Given the description of an element on the screen output the (x, y) to click on. 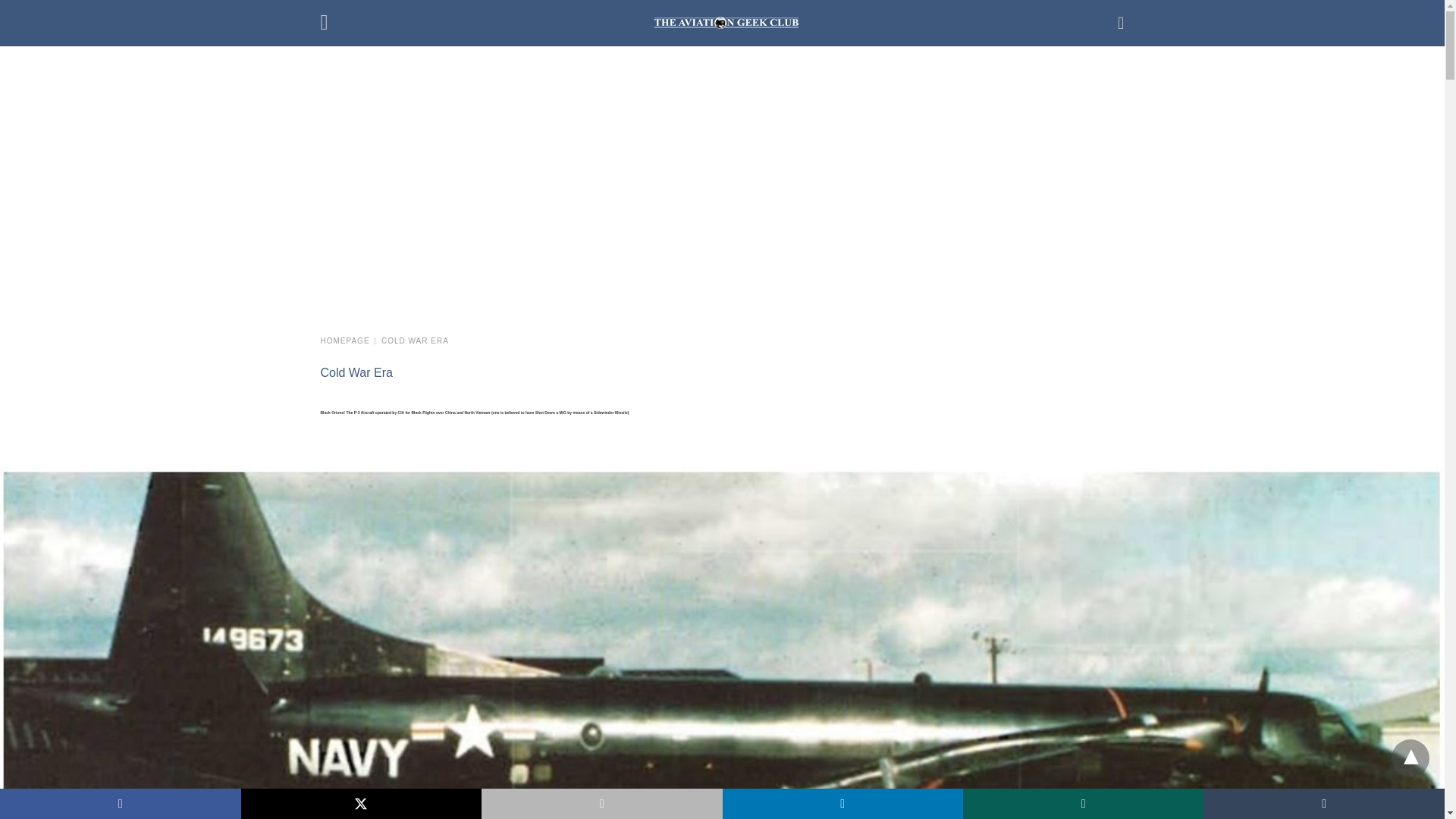
Cold War Era (414, 340)
COLD WAR ERA (414, 340)
Cold War Era (355, 372)
Homepage (348, 340)
Cold War Era (355, 372)
HOMEPAGE (348, 340)
The Aviation Geek Club (725, 22)
